Given the description of an element on the screen output the (x, y) to click on. 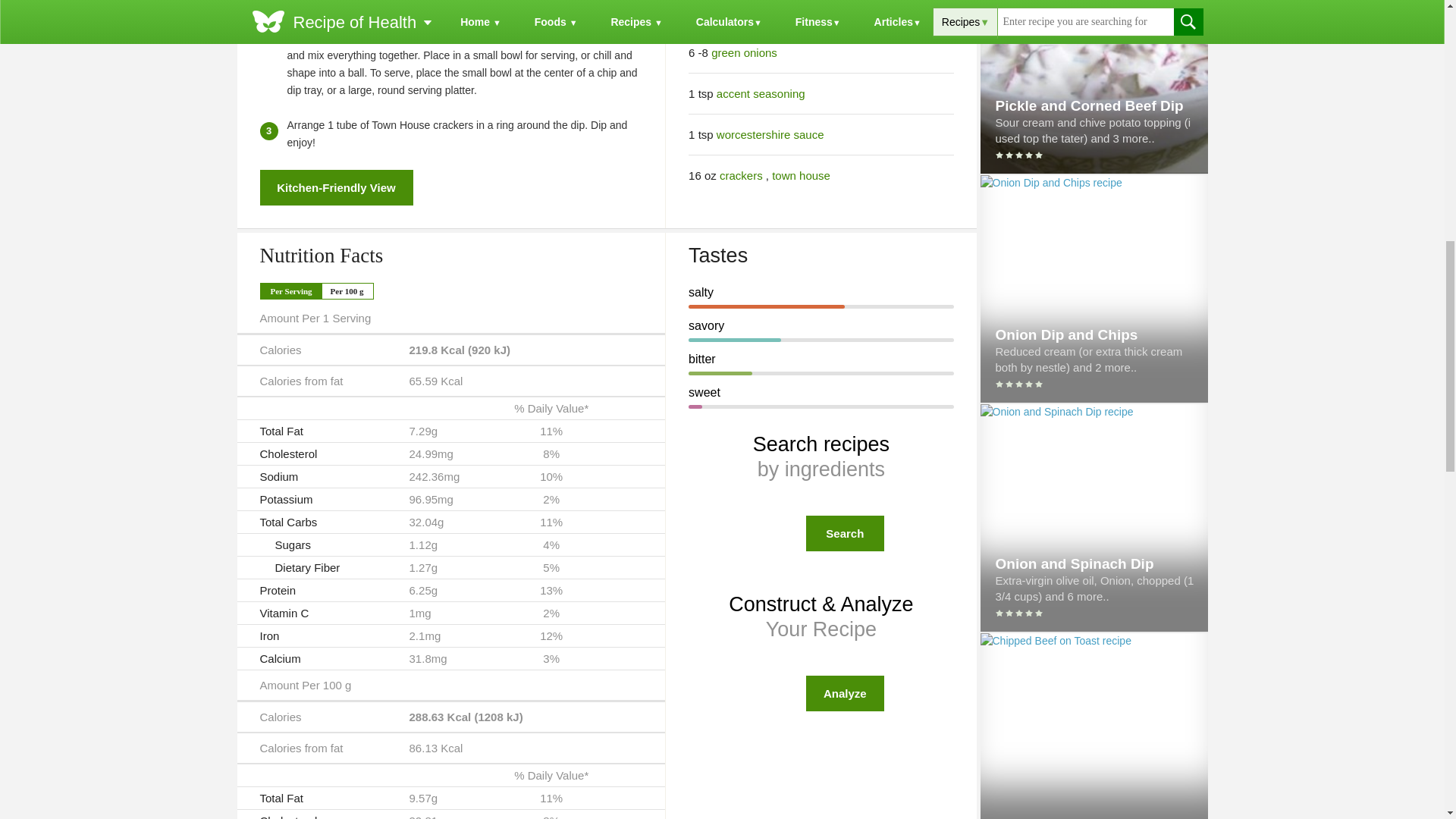
crackers (740, 174)
green onions (744, 51)
Per Serving (289, 290)
accent seasoning (760, 92)
Search (844, 533)
worcestershire sauce (770, 133)
Per 100 g (347, 290)
Analyze (844, 693)
Kitchen-Friendly View (335, 187)
dried beef (757, 11)
